Given the description of an element on the screen output the (x, y) to click on. 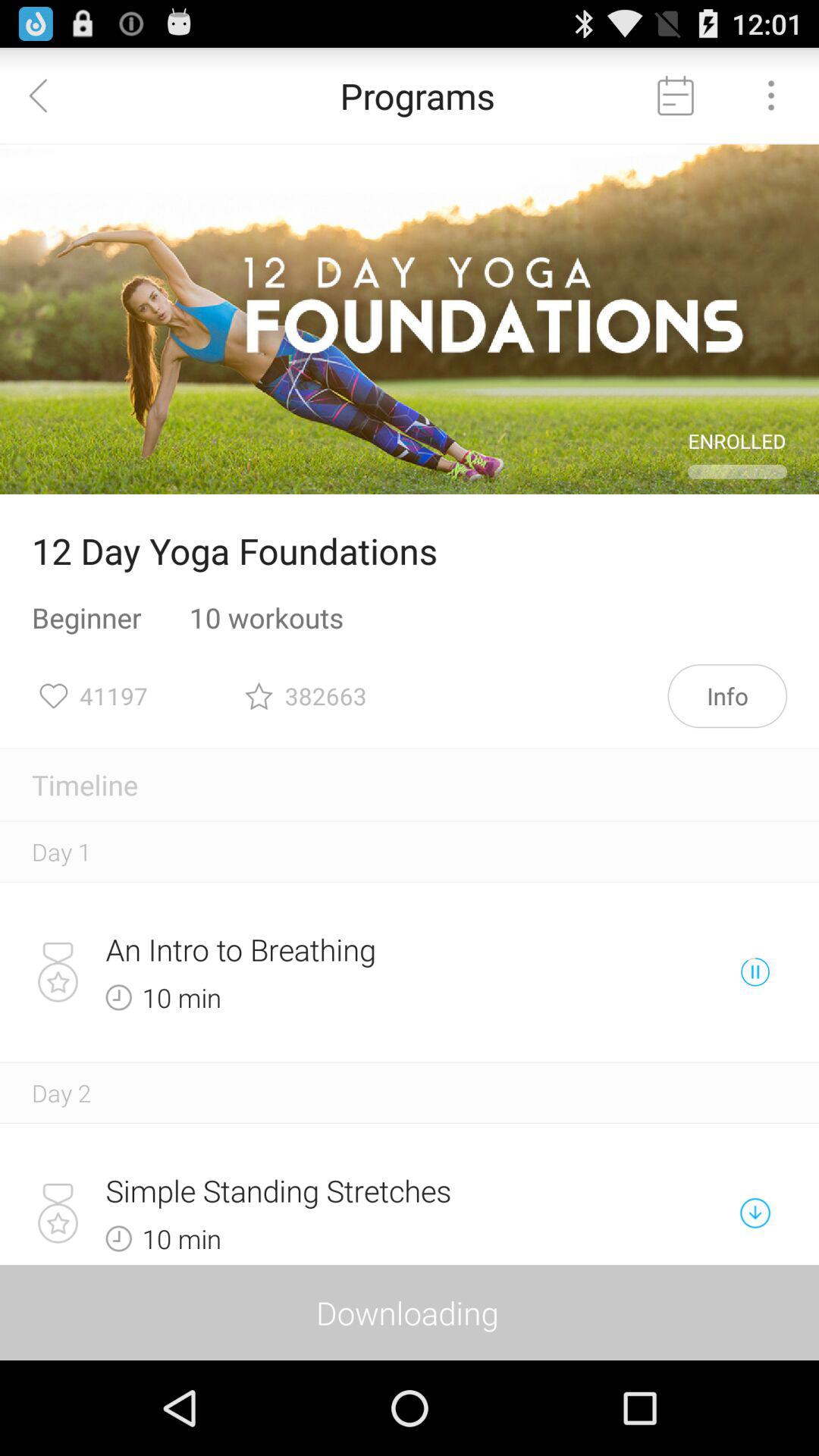
turn off info item (727, 696)
